Given the description of an element on the screen output the (x, y) to click on. 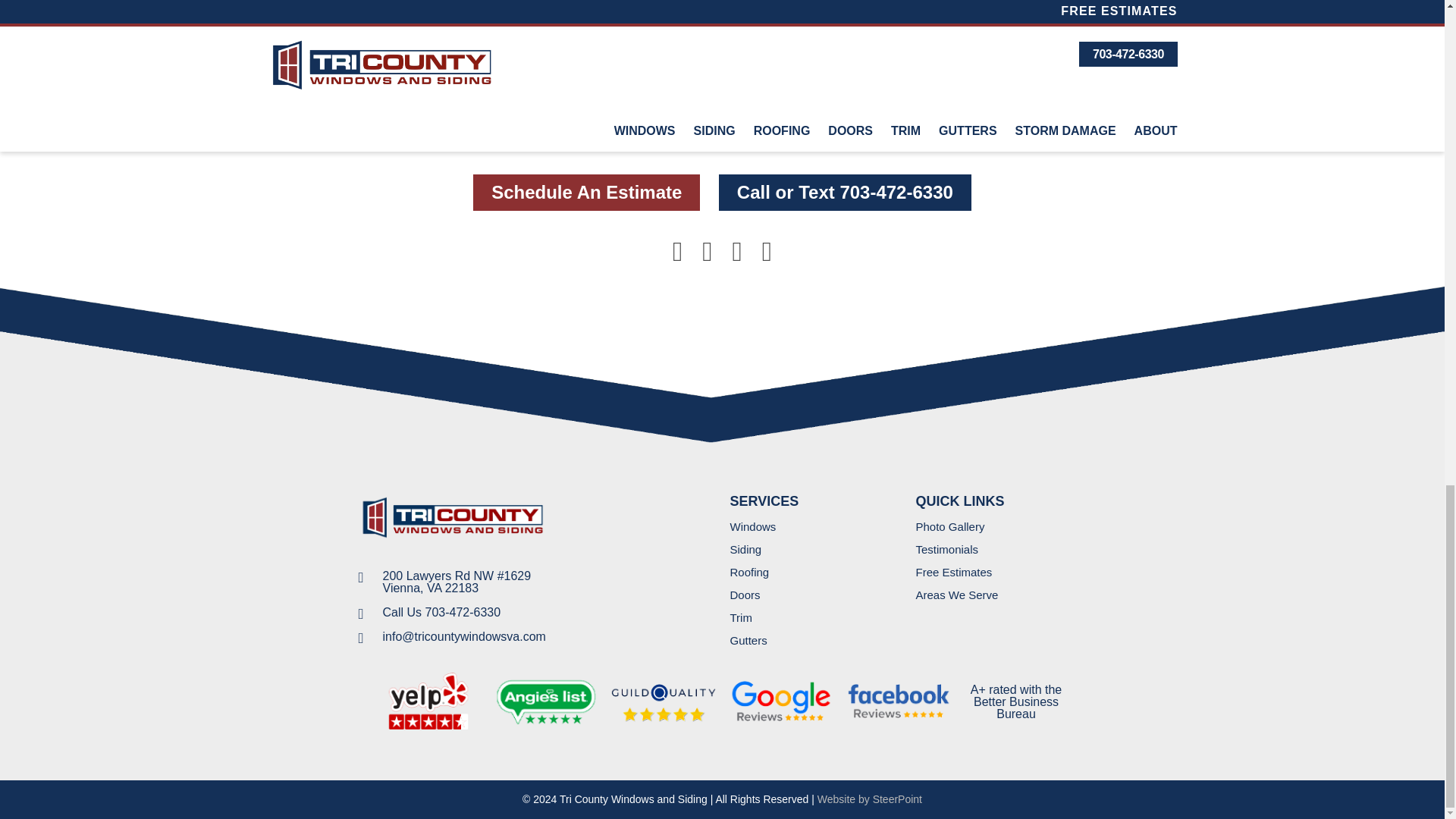
Facebook (676, 256)
Quild Quality (663, 700)
Yelp (428, 700)
Google (781, 700)
Angies List (545, 700)
Angi (767, 256)
Yelp (737, 256)
Facebook Image (898, 700)
